Given the description of an element on the screen output the (x, y) to click on. 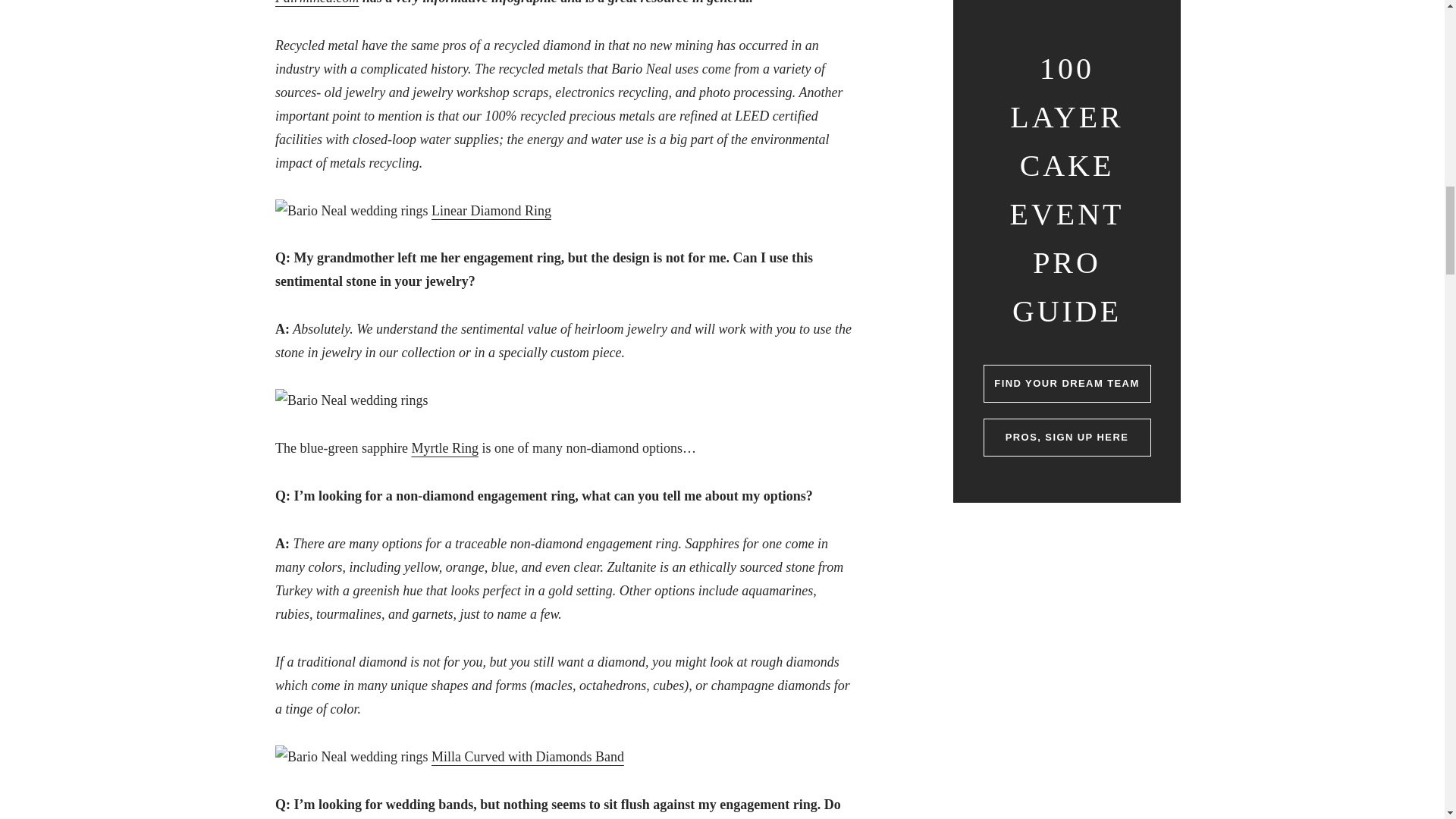
Milla Curved with Diamonds Band (527, 756)
Fairmined.com (316, 2)
Linear Diamond Ring (490, 210)
Myrtle Ring (444, 447)
